Given the description of an element on the screen output the (x, y) to click on. 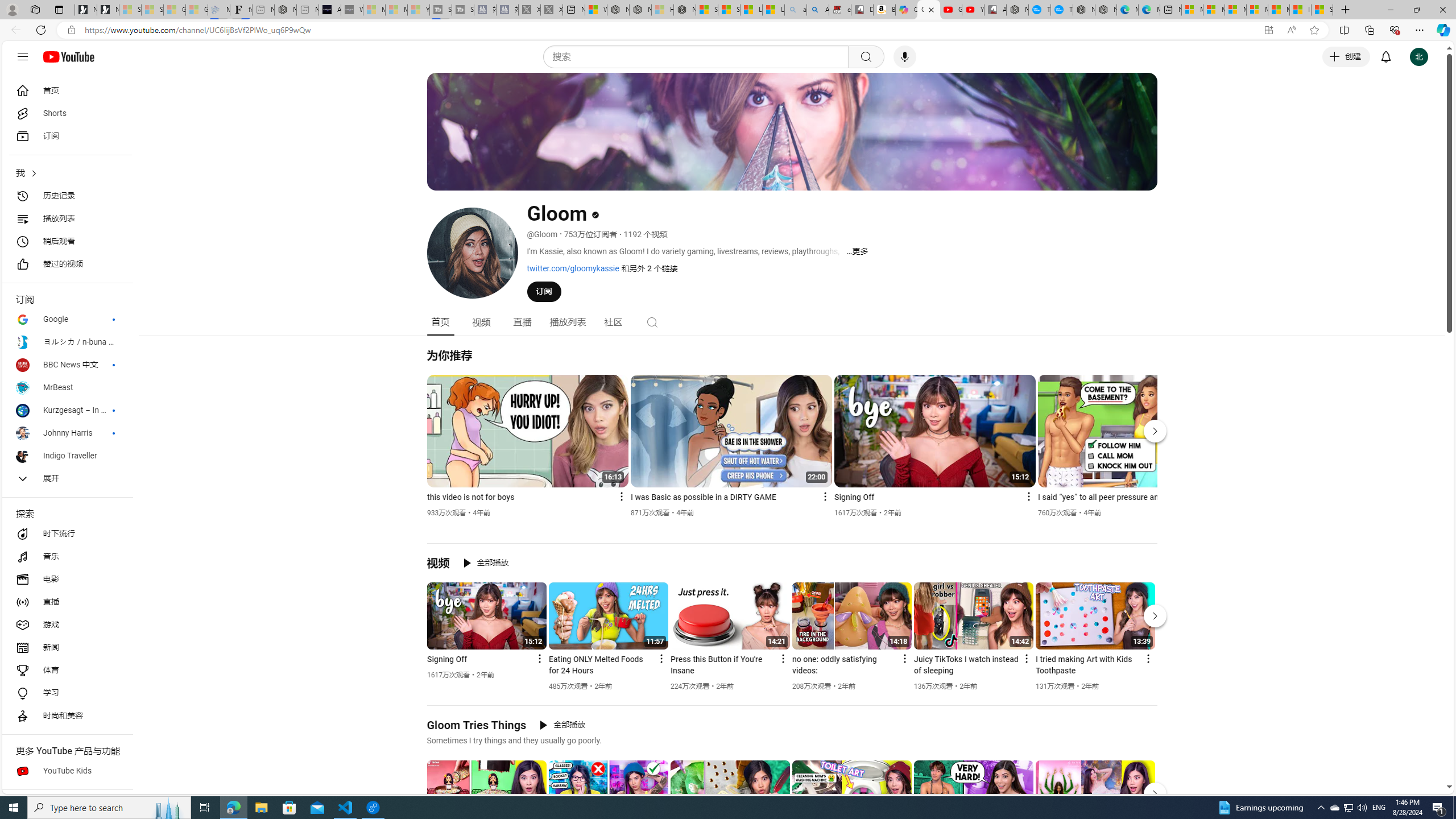
YouTube Kids (66, 771)
